Given the description of an element on the screen output the (x, y) to click on. 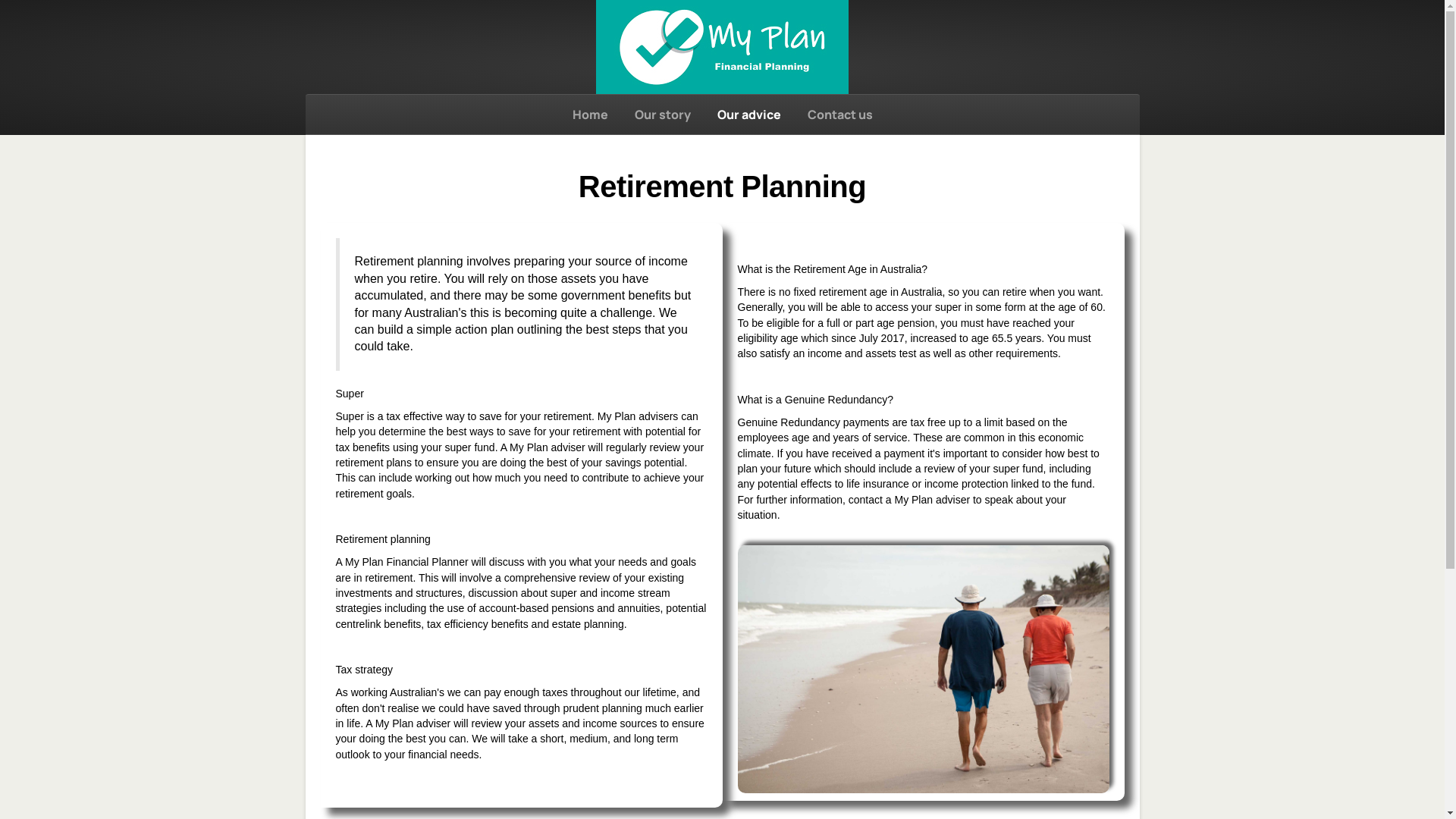
Our story Element type: text (661, 114)
Home Element type: text (589, 114)
Our advice Element type: text (749, 114)
My Plan Financial Planning Advice_0001_old-3608950_1920 Element type: hover (922, 669)
Contact us Element type: text (839, 114)
